Given the description of an element on the screen output the (x, y) to click on. 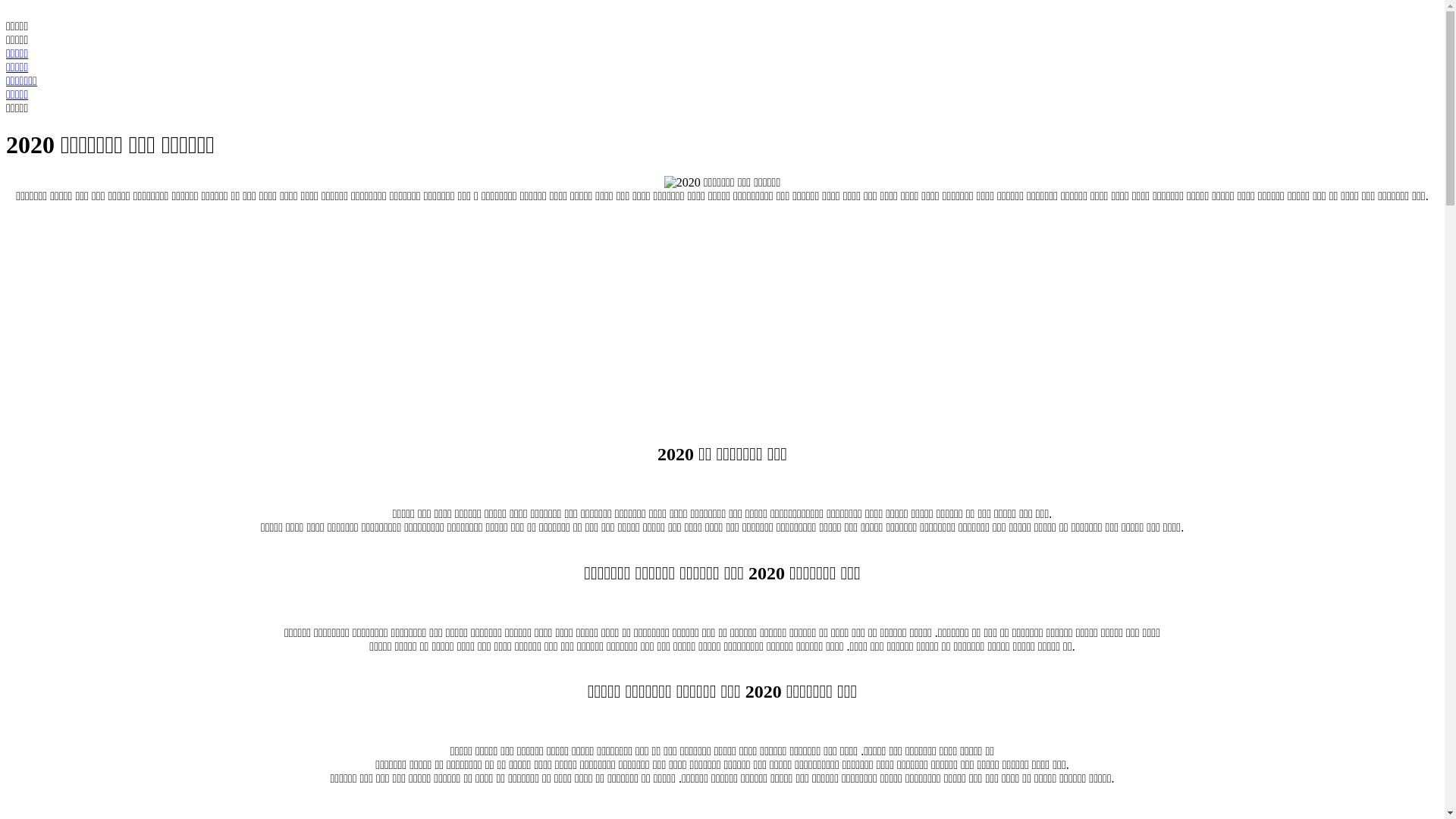
Advertisement Element type: hover (721, 309)
